Given the description of an element on the screen output the (x, y) to click on. 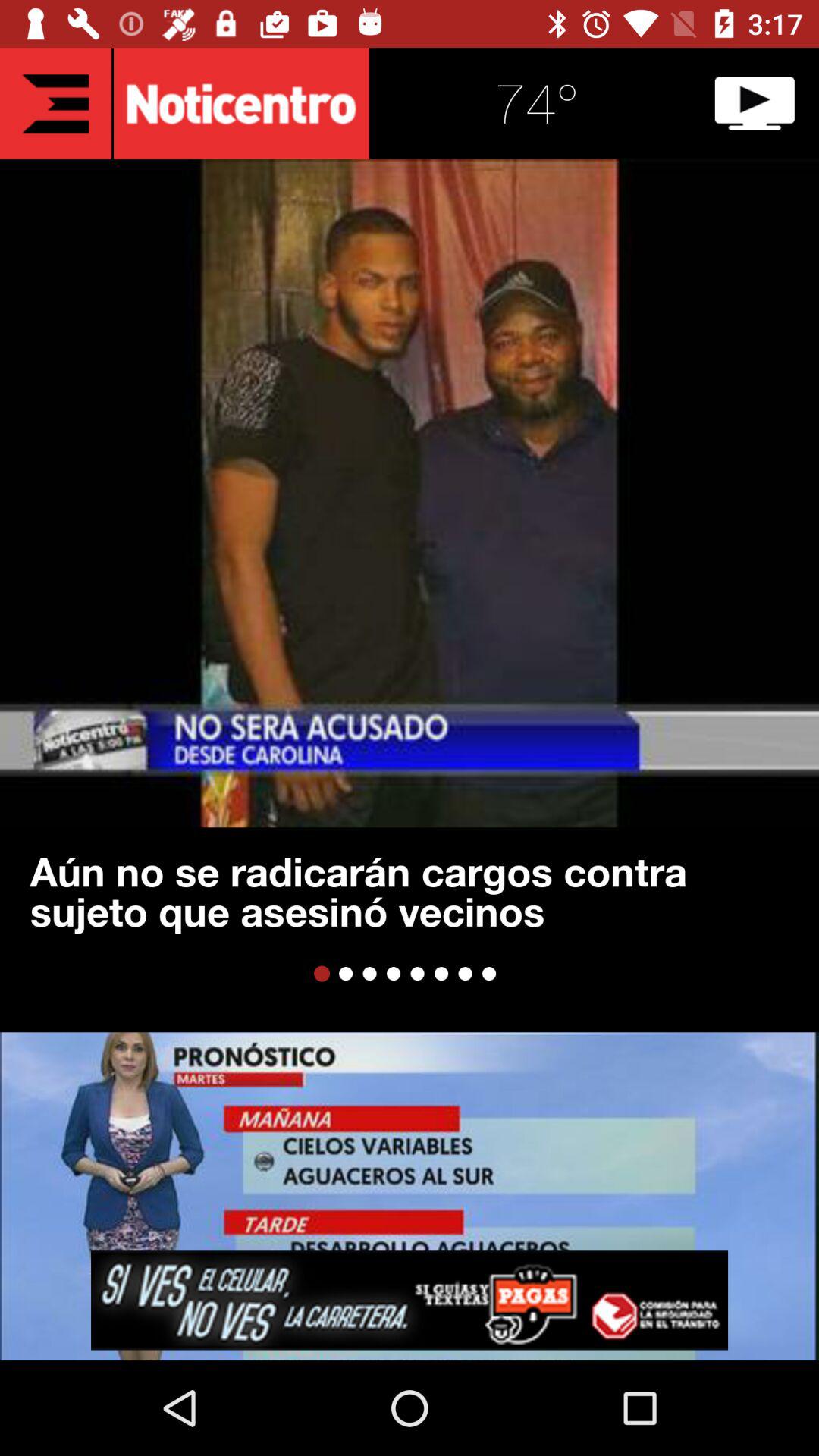
return to main screen (55, 103)
